Given the description of an element on the screen output the (x, y) to click on. 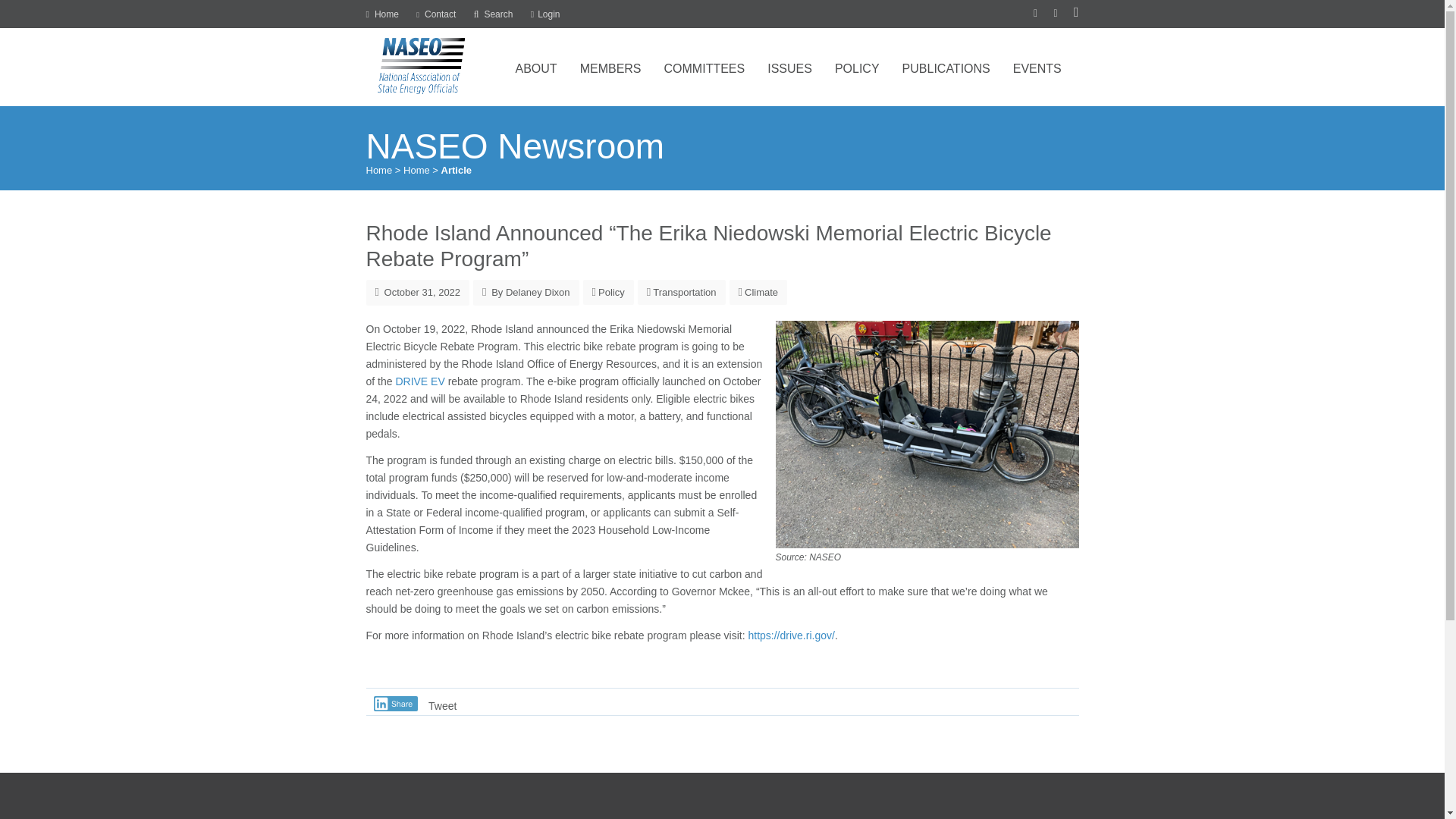
Search (493, 14)
Home (381, 14)
MEMBERS (610, 65)
COMMITTEES (704, 65)
Contact (435, 14)
Login (545, 14)
